Given the description of an element on the screen output the (x, y) to click on. 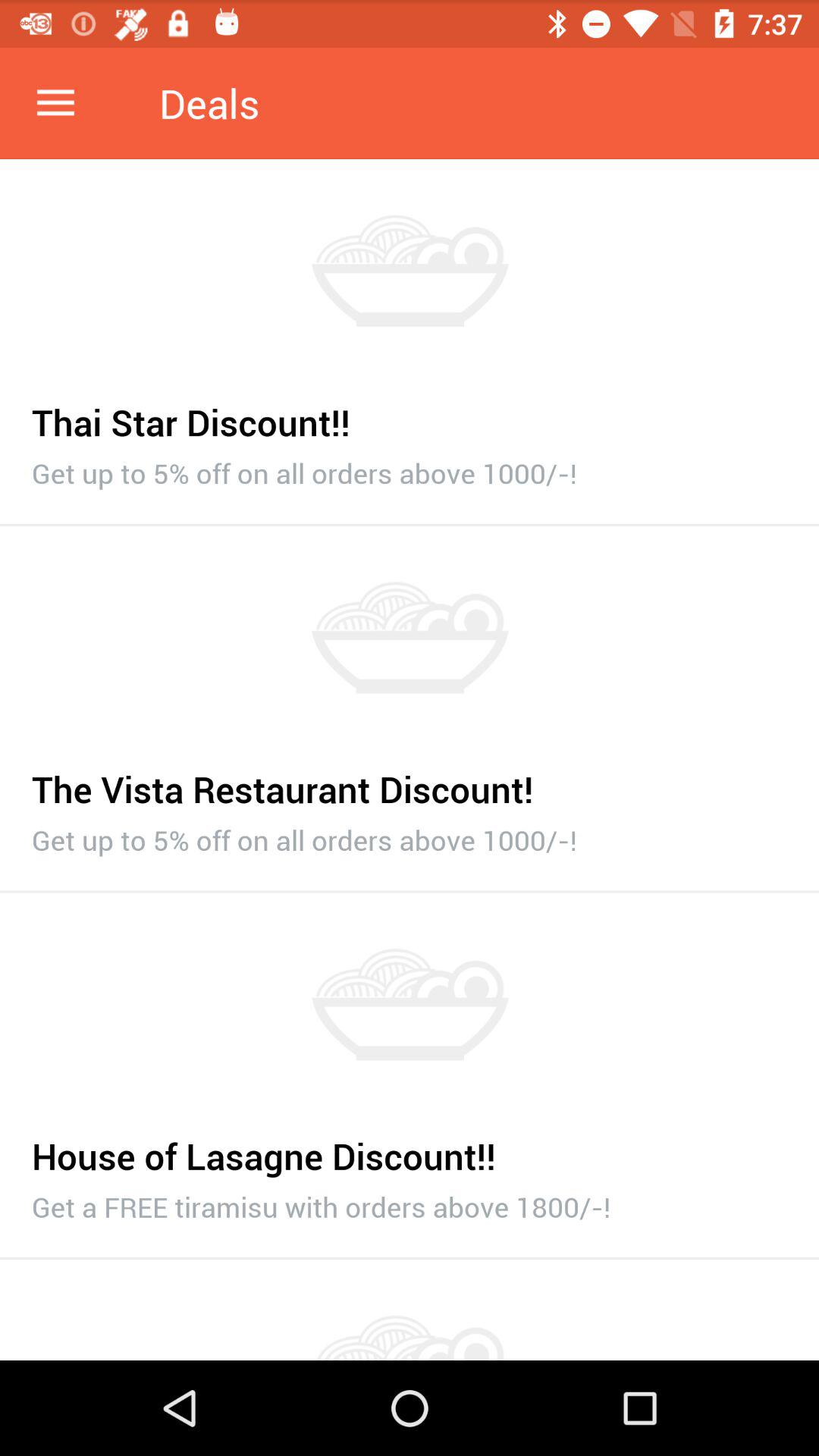
click house of lasagne icon (409, 1147)
